Given the description of an element on the screen output the (x, y) to click on. 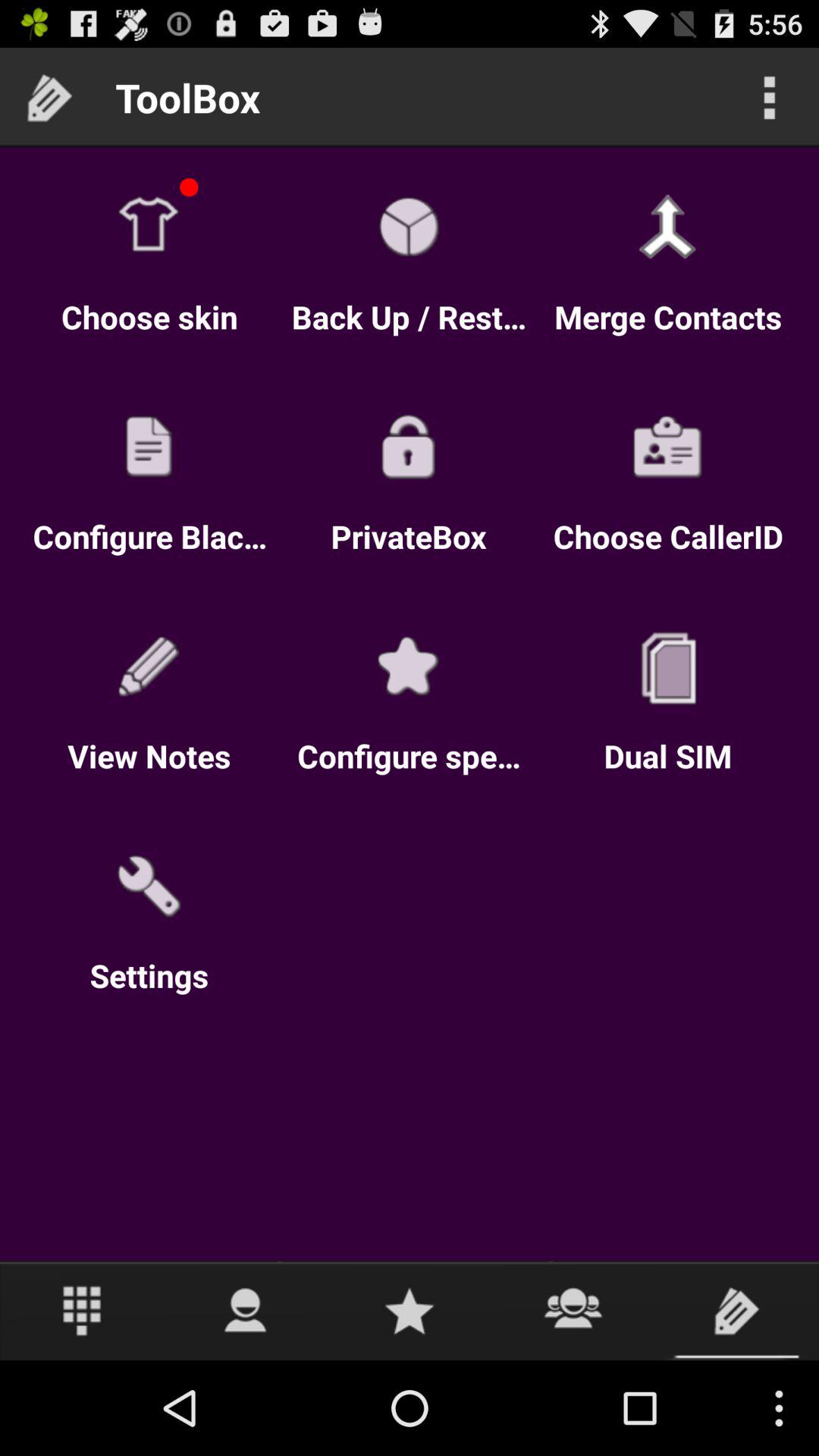
go to profile (245, 1310)
